Given the description of an element on the screen output the (x, y) to click on. 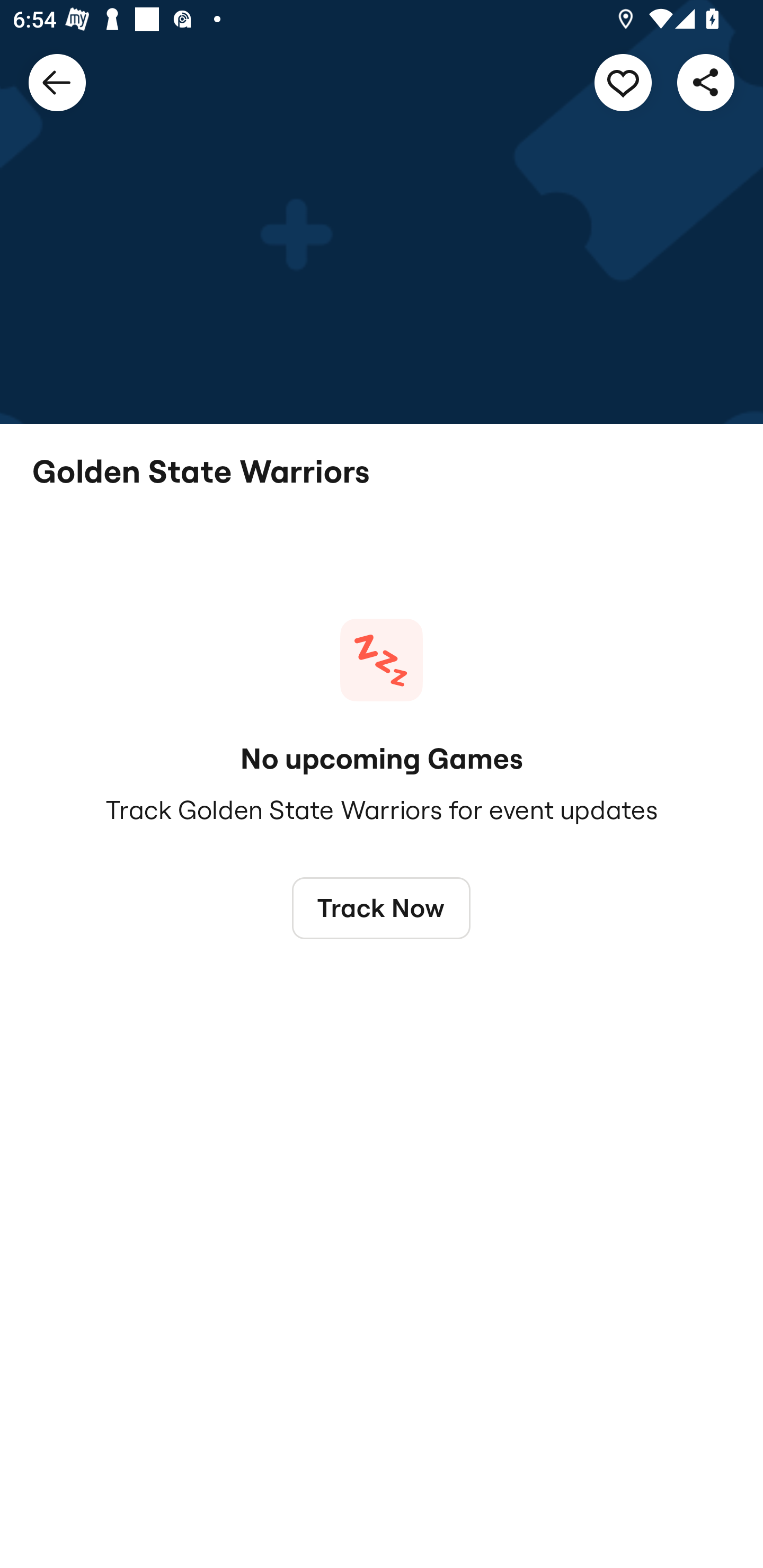
Back (57, 81)
Track this performer (623, 81)
Share this performer (705, 81)
Track Now (381, 907)
